Given the description of an element on the screen output the (x, y) to click on. 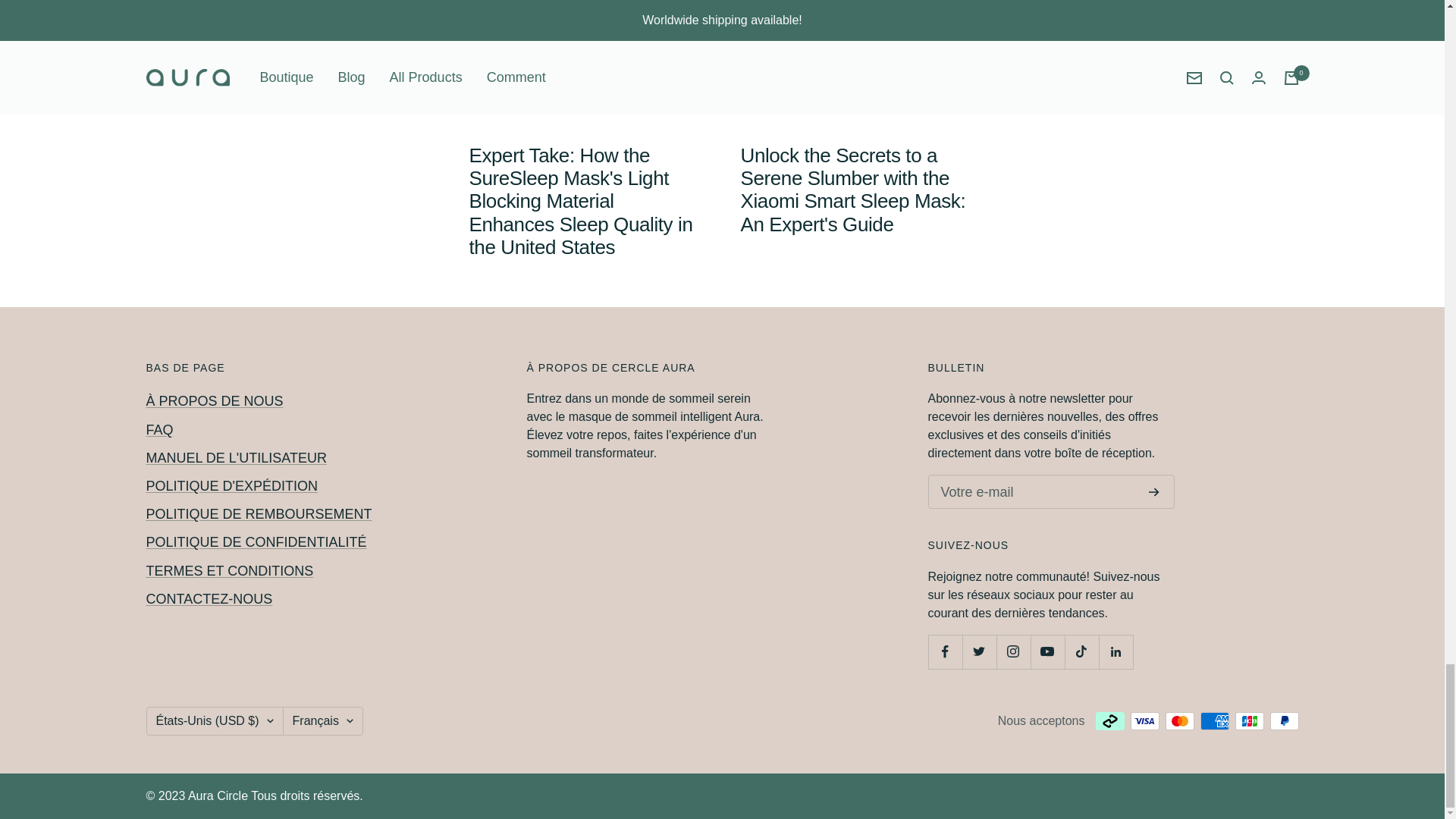
S'inscrire (1153, 491)
